Given the description of an element on the screen output the (x, y) to click on. 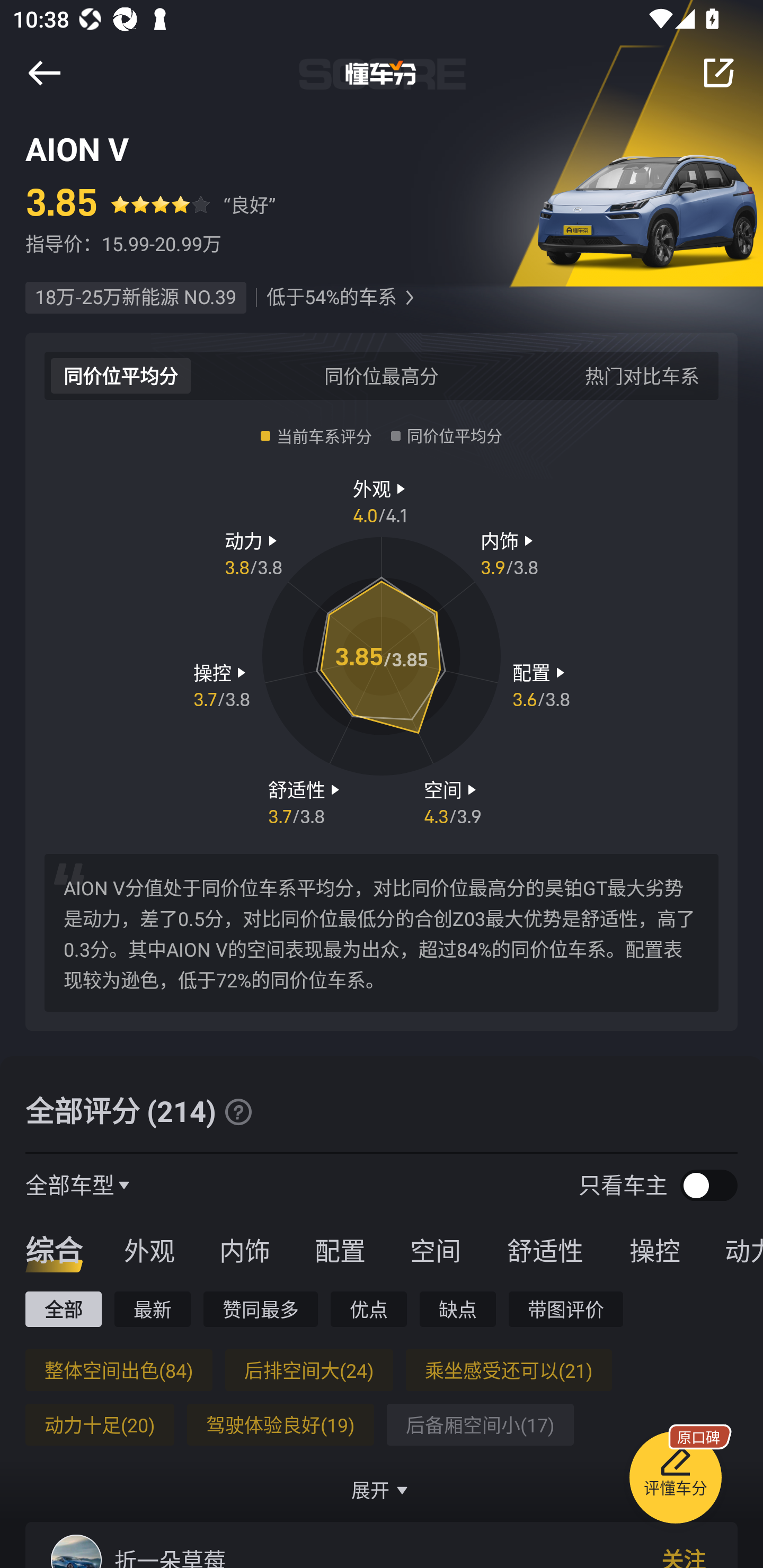
 (44, 72)
 (718, 72)
低于54%的车系 (331, 297)
 (408, 297)
同价位平均分 (120, 375)
同价位最高分 (381, 375)
热门对比车系 (641, 375)
外观  4.0 / 4.1 (381, 500)
动力  3.8 / 3.8 (253, 552)
内饰  3.9 / 3.8 (509, 552)
操控  3.7 / 3.8 (221, 685)
配置  3.6 / 3.8 (540, 685)
舒适性  3.7 / 3.8 (305, 801)
空间  4.3 / 3.9 (452, 801)
 (238, 1112)
全部车型 (69, 1184)
外观 (148, 1250)
内饰 (244, 1250)
配置 (339, 1250)
空间 (434, 1250)
舒适性 (544, 1250)
操控 (654, 1250)
全部 (63, 1309)
最新 (152, 1309)
赞同最多 (260, 1309)
优点 (368, 1309)
缺点 (457, 1309)
带图评价 (565, 1309)
整体空间出色(84) (118, 1369)
后排空间大(24) (308, 1369)
乘坐感受还可以(21) (508, 1369)
动力十足(20) (99, 1424)
驾驶体验良好(19) (279, 1424)
后备厢空间小(17) (479, 1424)
 评懂车分 原口碑 (675, 1480)
展开  (381, 1490)
折一朵草莓 关注 (381, 1545)
